Given the description of an element on the screen output the (x, y) to click on. 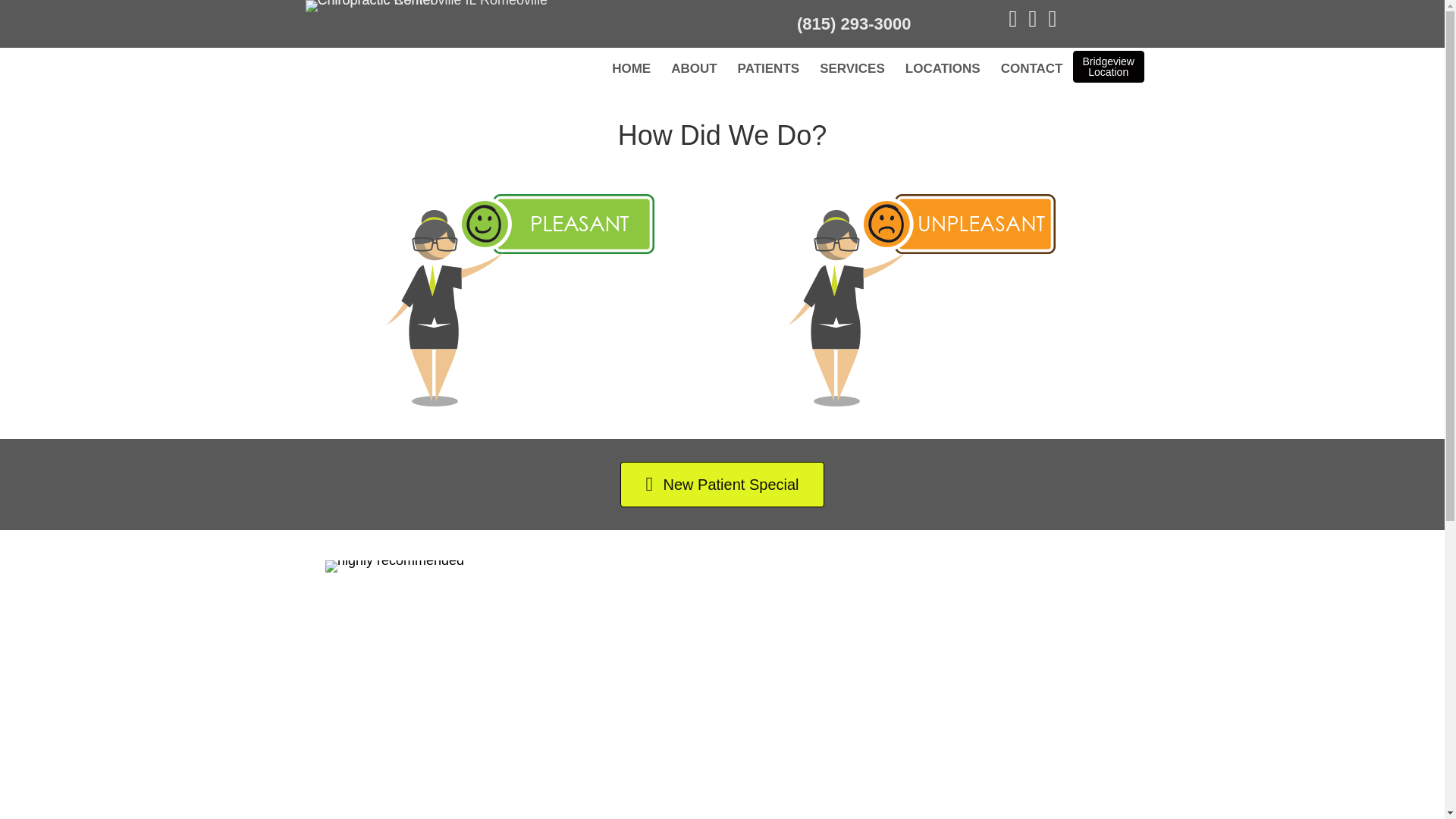
site-pleasant (520, 296)
romeoville-chiro-logo-round (458, 6)
site-highly-rec (394, 566)
site-unpleasant (922, 296)
